Given the description of an element on the screen output the (x, y) to click on. 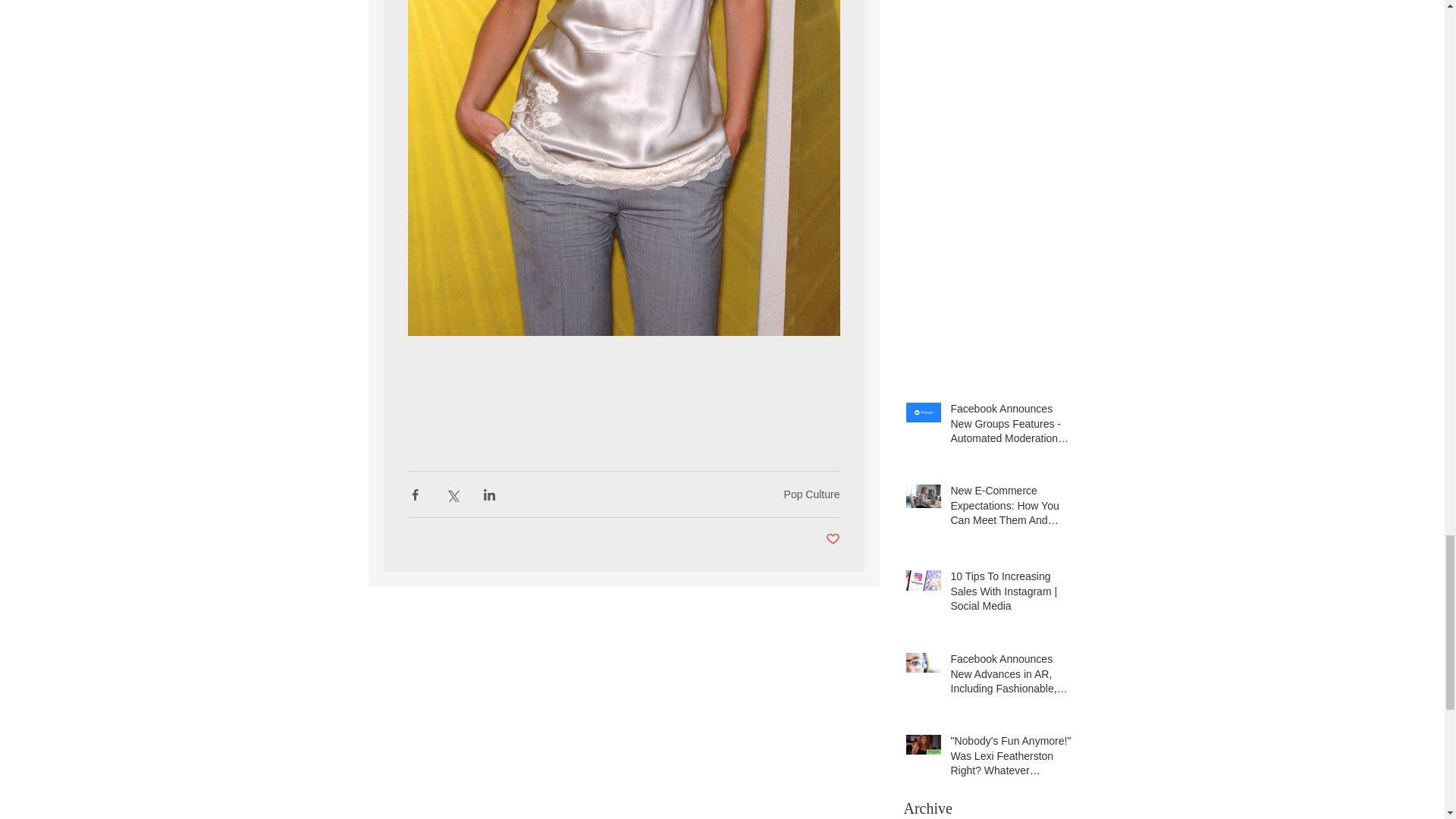
Post not marked as liked (832, 539)
Pop Culture (812, 494)
